Given the description of an element on the screen output the (x, y) to click on. 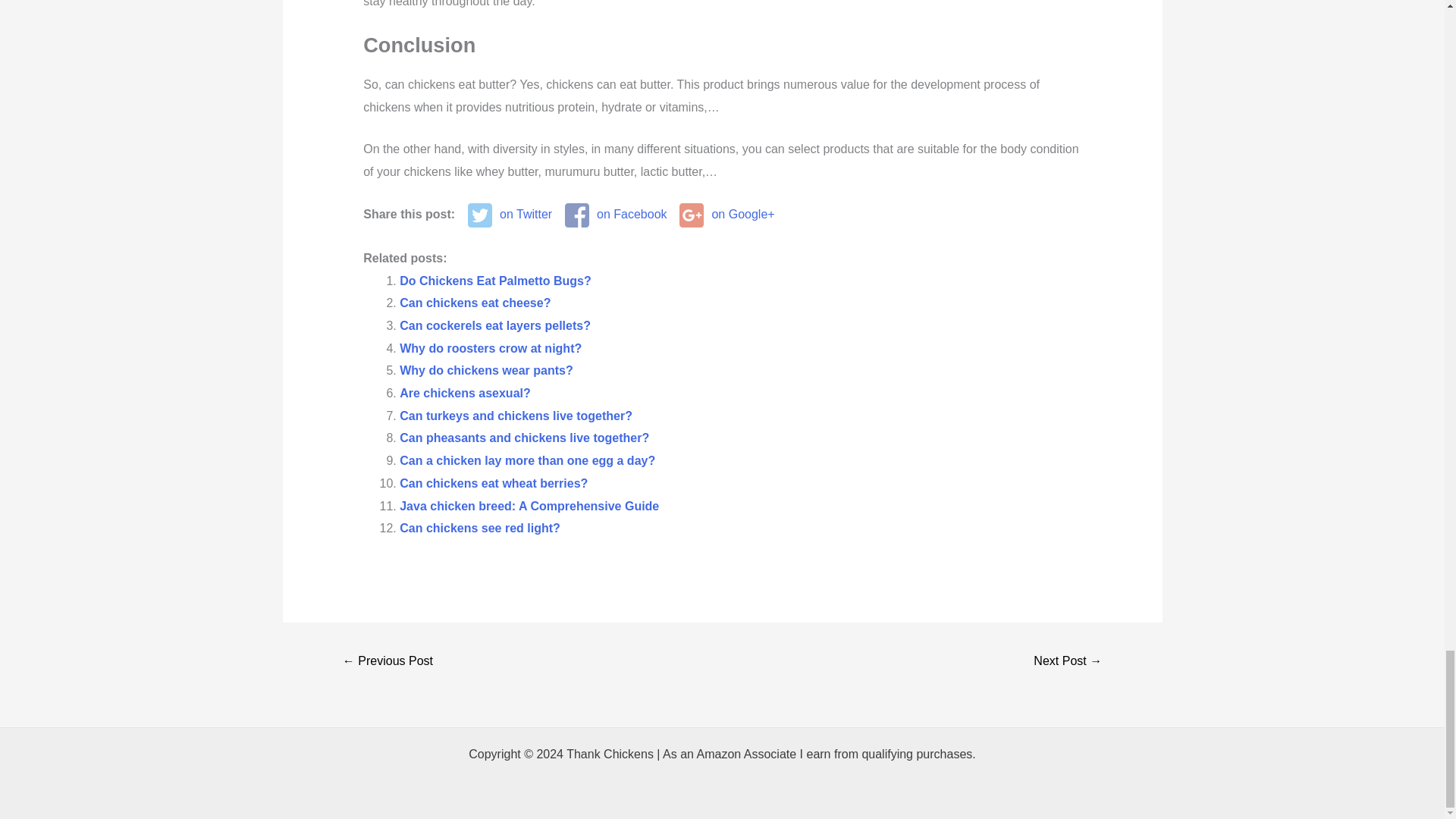
Why do chickens wear pants? (485, 369)
Do Chickens Eat Palmetto Bugs? (494, 280)
Java chicken breed: A Comprehensive Guide (528, 505)
Why do roosters crow at night? (489, 348)
Can cockerels eat layers pellets? (494, 325)
Can chickens eat cooked grits? (1066, 662)
Do Chickens Eat Palmetto Bugs? (494, 280)
Can chickens eat cheese? (474, 302)
Can chickens eat wheat berries? (493, 482)
on Twitter (510, 214)
on Facebook (615, 214)
Can baby chickens eat bread? (387, 662)
Can pheasants and chickens live together? (523, 437)
Can chickens eat cheese? (474, 302)
Can a chicken lay more than one egg a day? (526, 460)
